Given the description of an element on the screen output the (x, y) to click on. 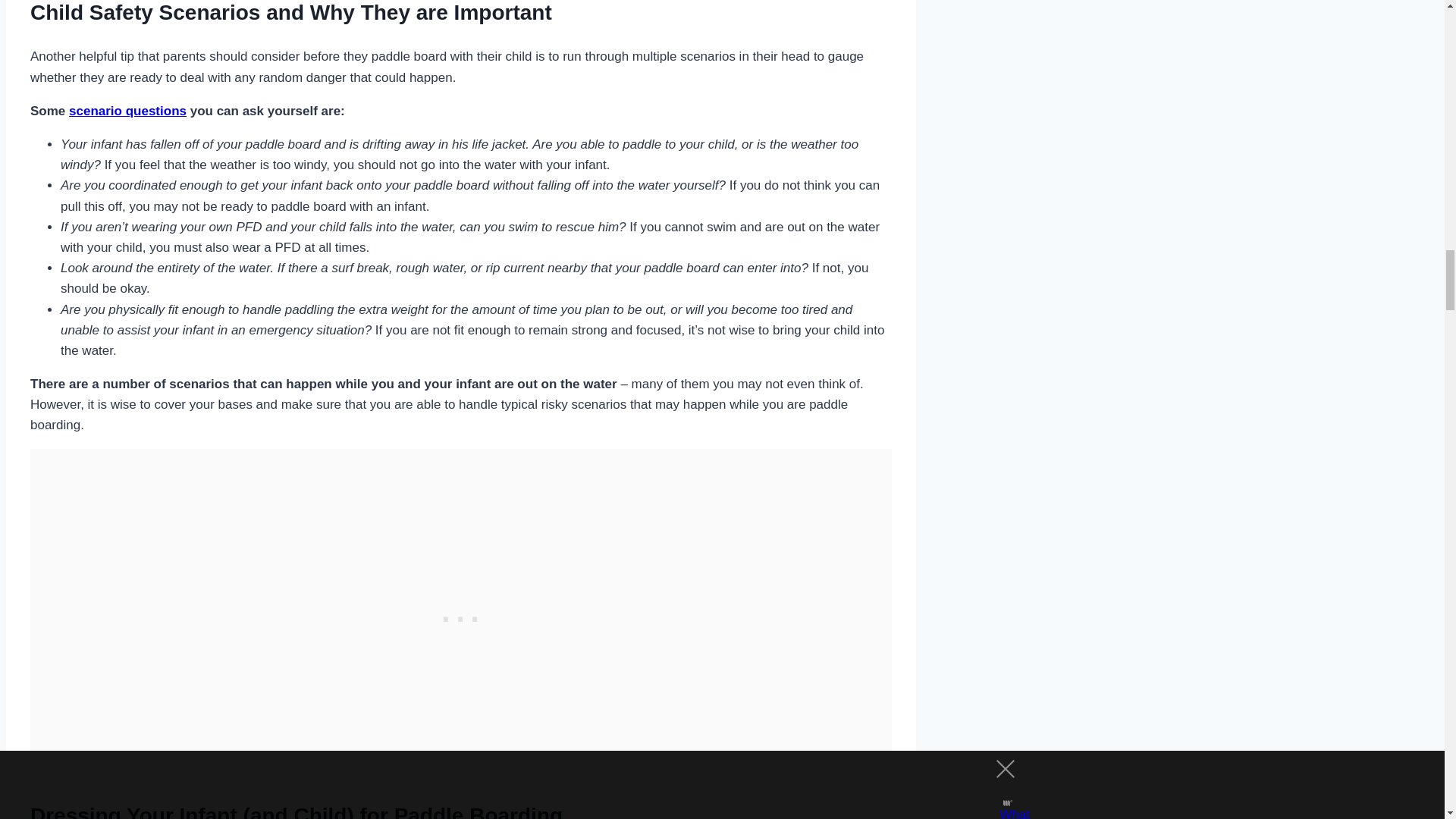
scenario questions (127, 110)
